Given the description of an element on the screen output the (x, y) to click on. 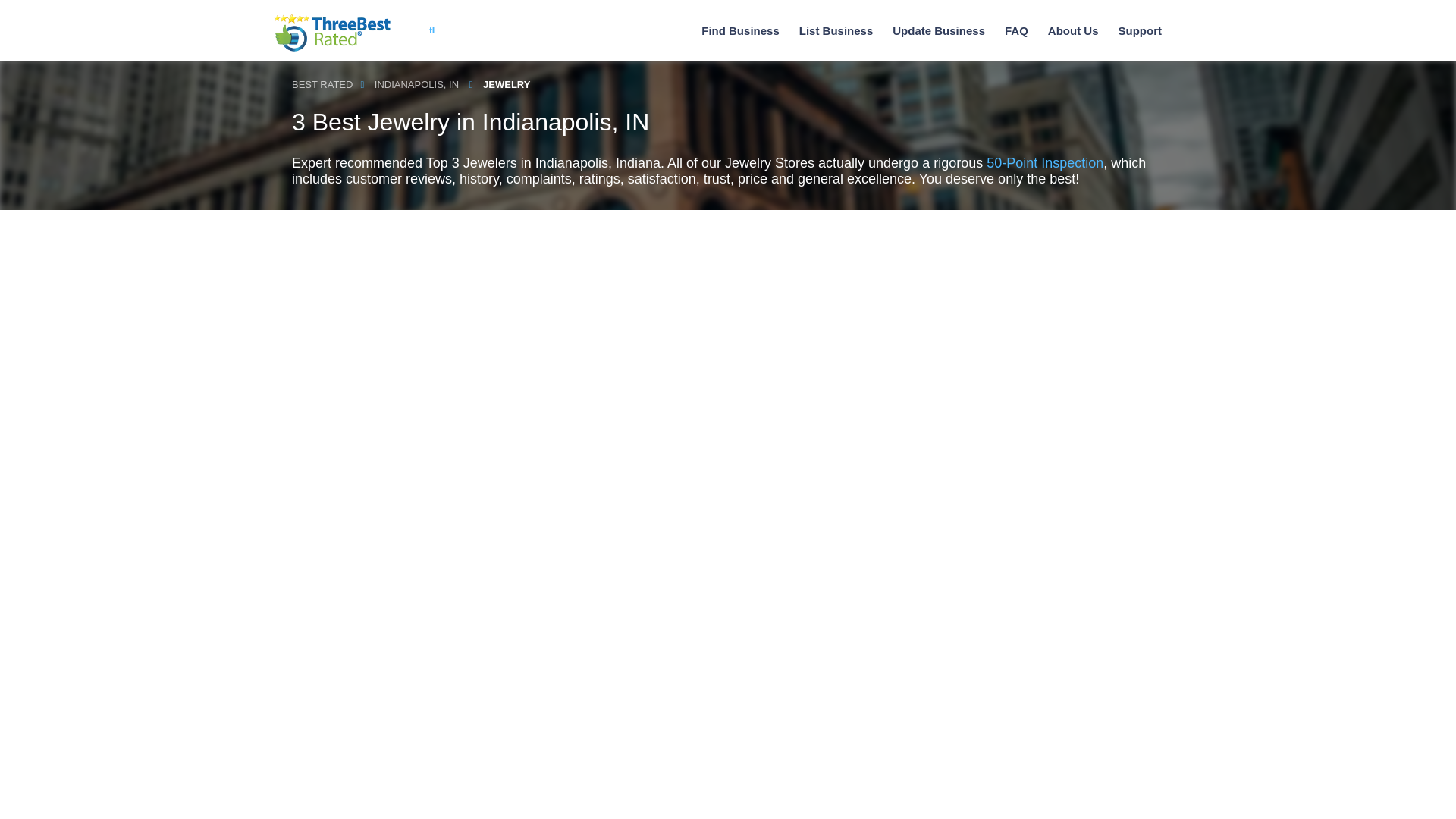
Find Business (740, 30)
Support (1139, 30)
About Us (1073, 30)
List your business for Free! (836, 30)
List Business (836, 30)
50-Point Inspection (1045, 162)
FAQ (1016, 30)
How does Three Best Rated U.S. work? (1073, 30)
INDIANAPOLIS, IN (415, 84)
ThreeBestRated.com (331, 32)
